Given the description of an element on the screen output the (x, y) to click on. 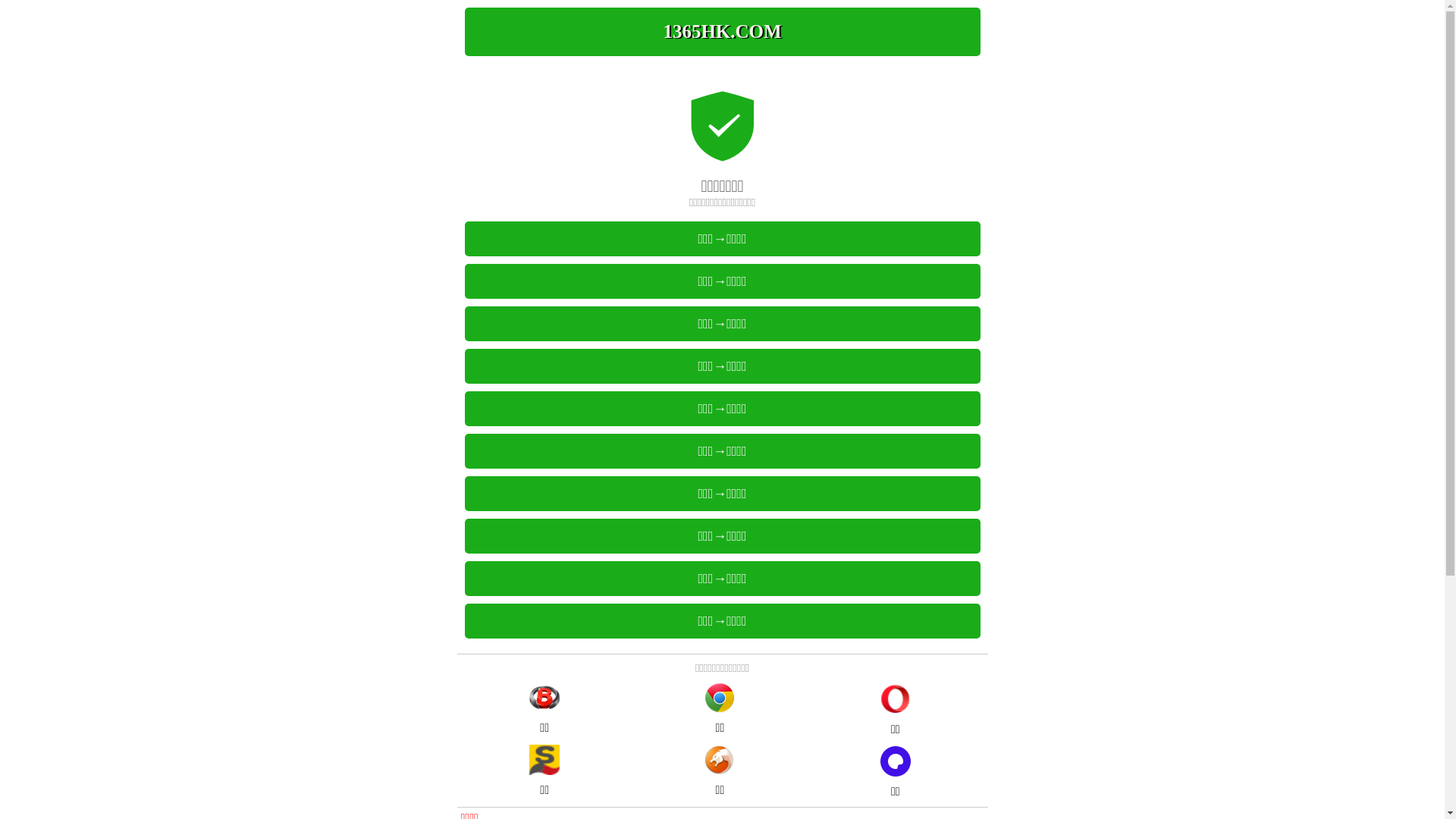
1365HK.COM Element type: text (721, 31)
